Given the description of an element on the screen output the (x, y) to click on. 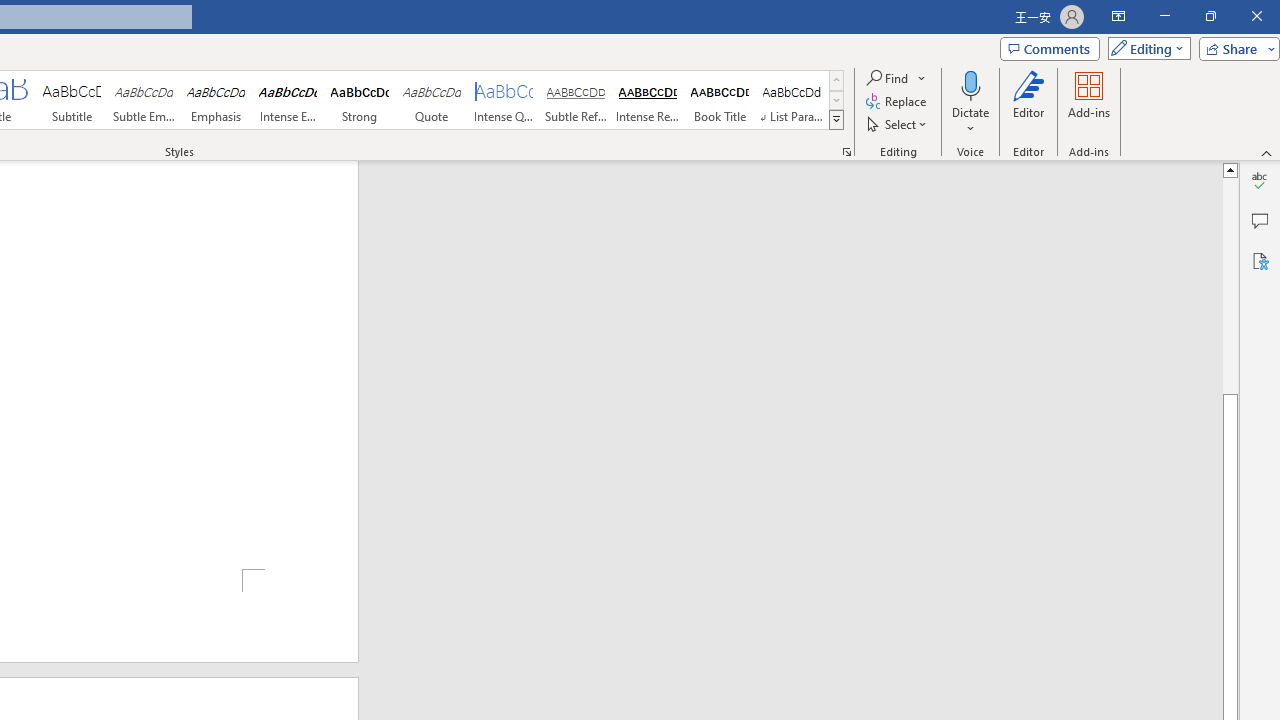
Replace... (897, 101)
Row up (836, 79)
Subtle Emphasis (143, 100)
Editing (1144, 47)
Intense Quote (504, 100)
Subtle Reference (575, 100)
